Given the description of an element on the screen output the (x, y) to click on. 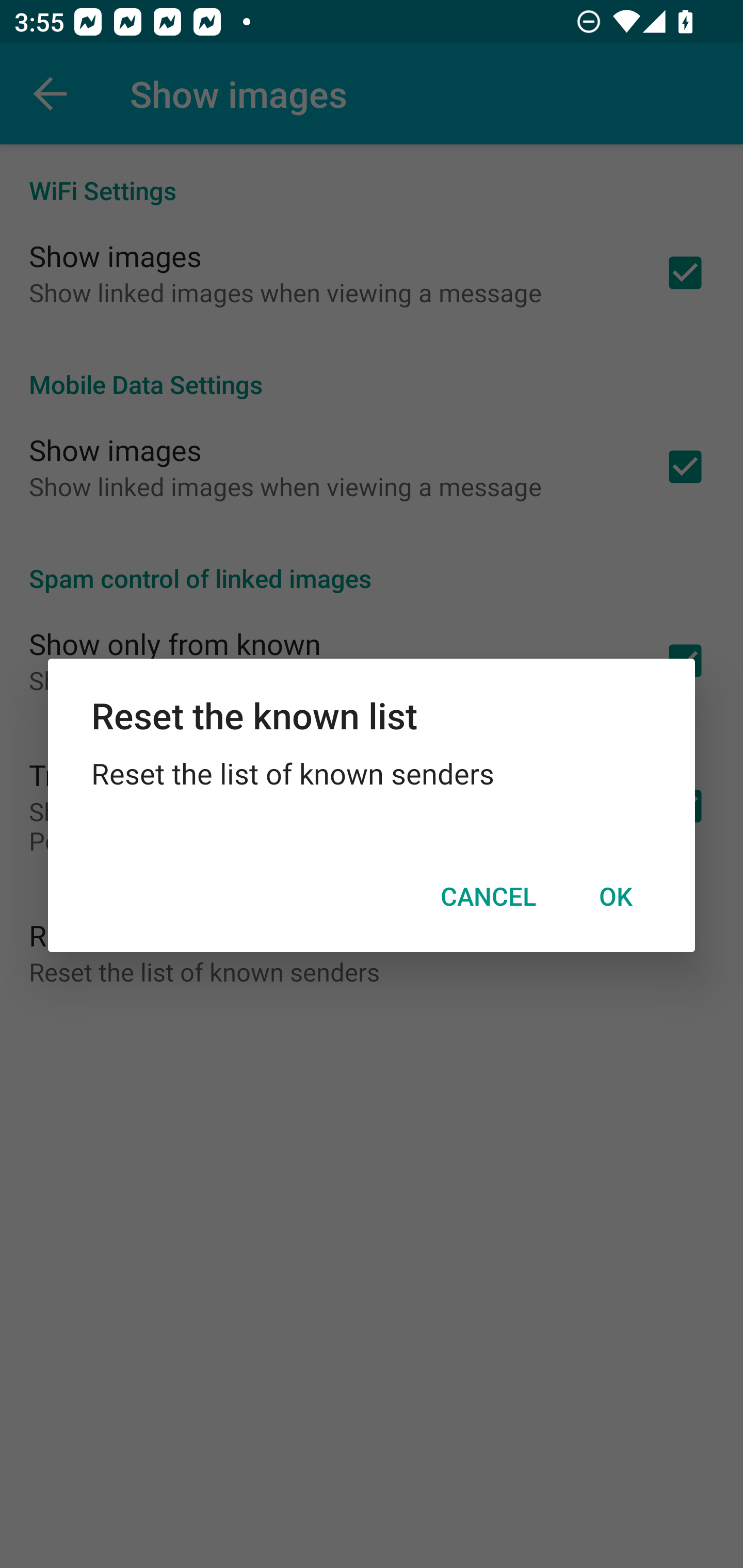
CANCEL (488, 895)
OK (615, 895)
